Given the description of an element on the screen output the (x, y) to click on. 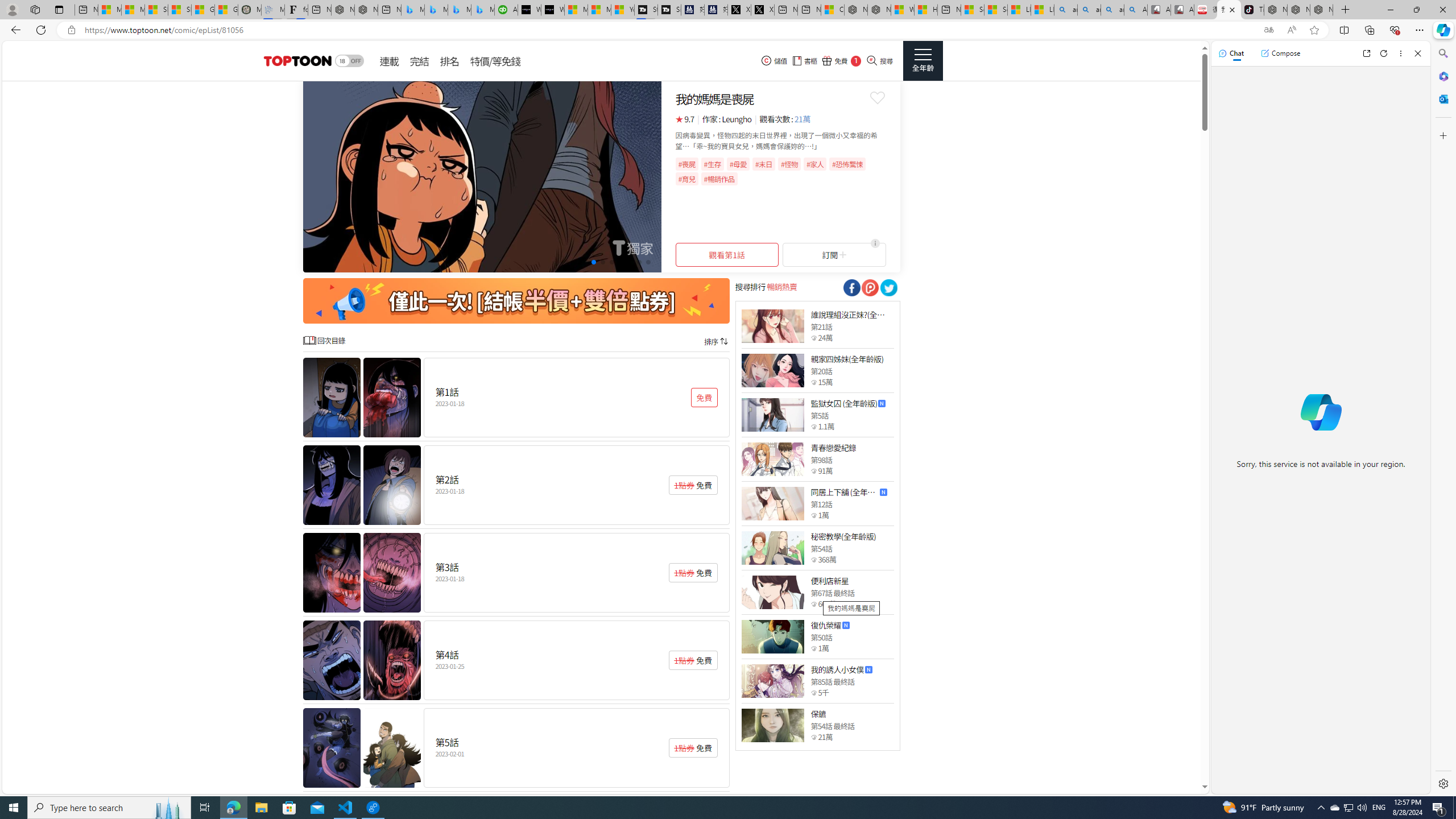
Shanghai, China weather forecast | Microsoft Weather (179, 9)
Workspaces (34, 9)
What's the best AI voice generator? - voice.ai (552, 9)
Chat (1231, 52)
Nordace - Best Sellers (1275, 9)
Collections (1369, 29)
Microsoft Bing Travel - Stays in Bangkok, Bangkok, Thailand (435, 9)
header (295, 60)
